Given the description of an element on the screen output the (x, y) to click on. 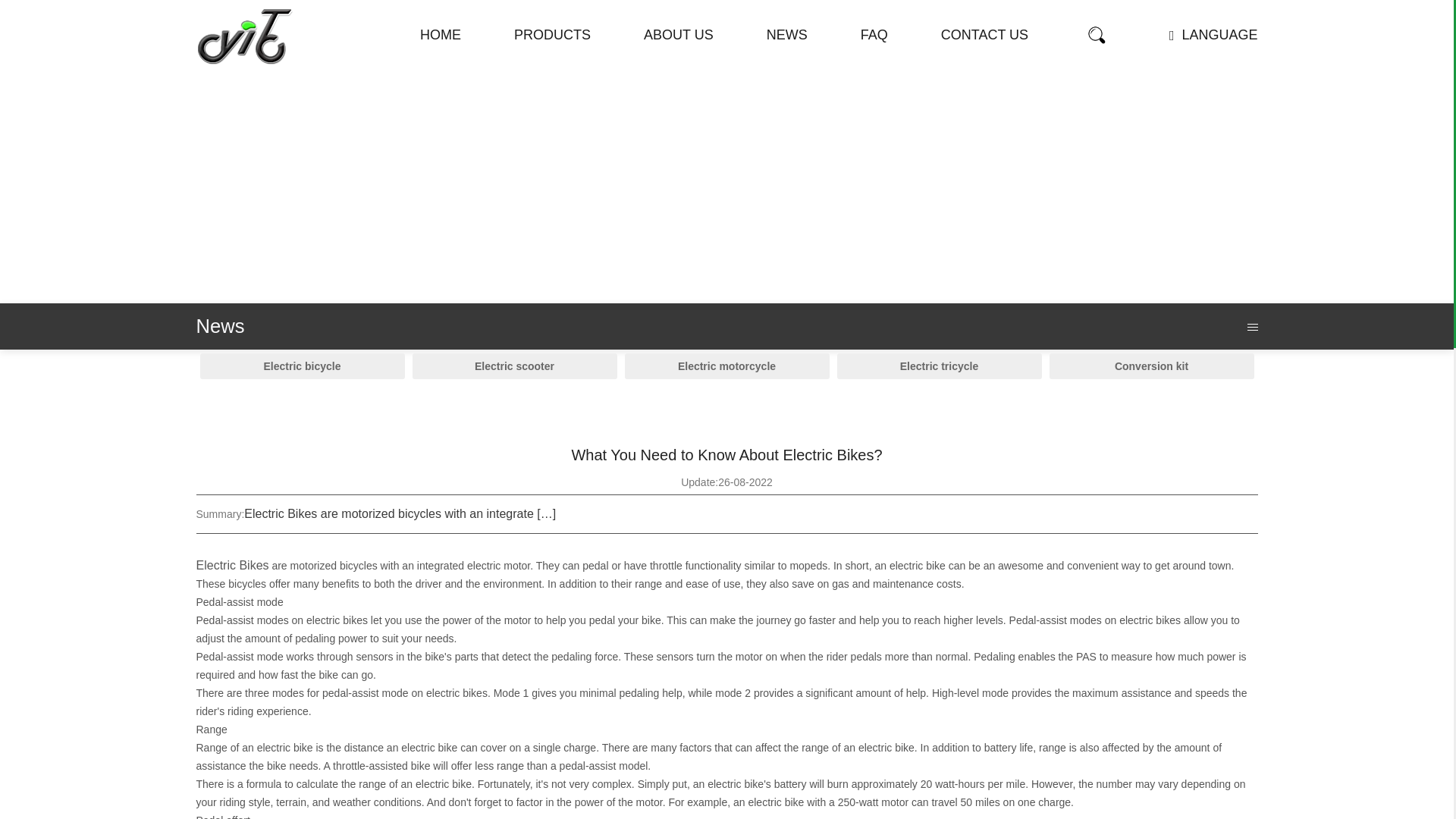
ABOUT US (678, 34)
PRODUCTS (552, 34)
CONTACT US (983, 34)
